Given the description of an element on the screen output the (x, y) to click on. 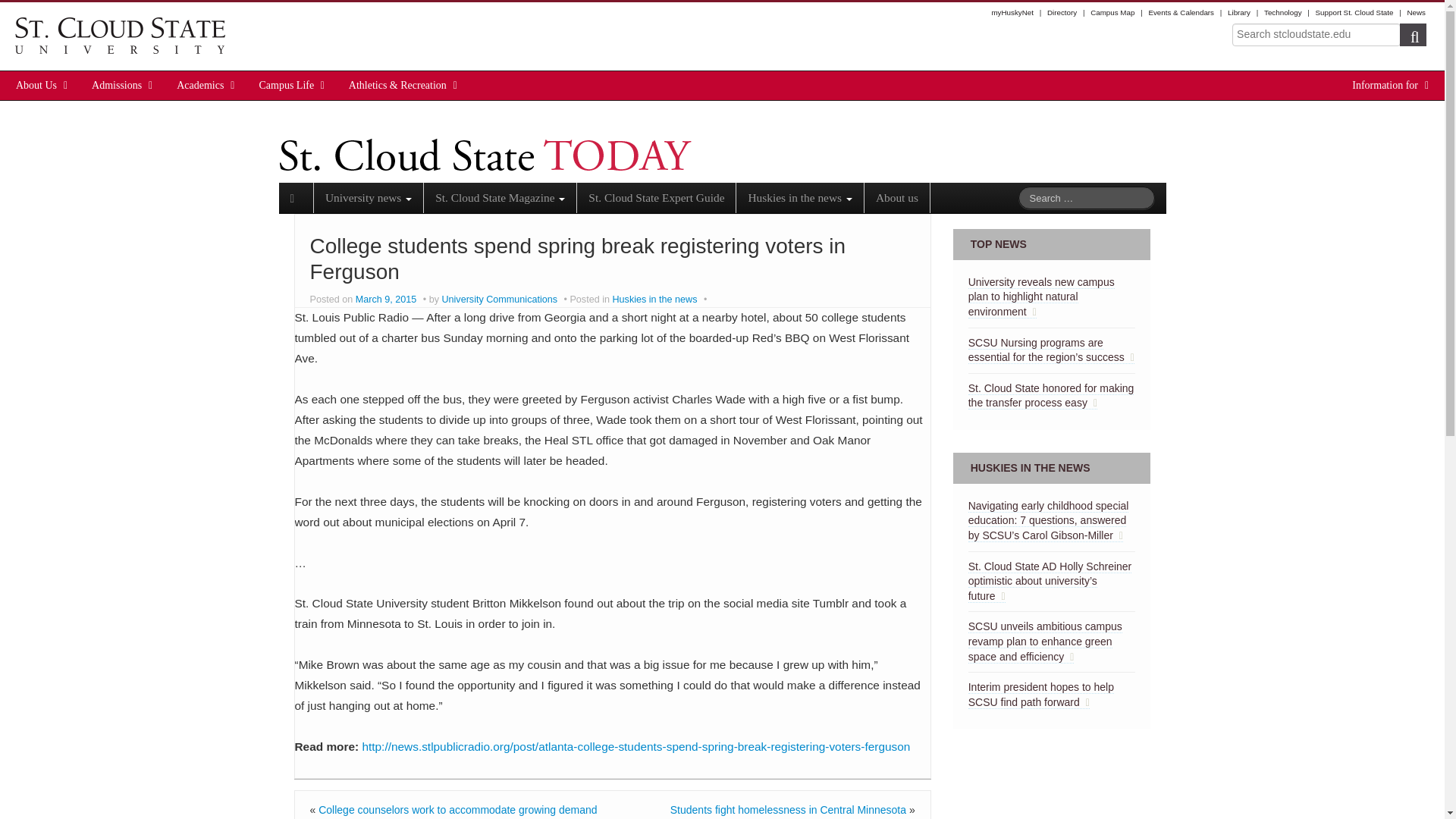
9:45 am (387, 299)
View all posts by University Communications (499, 299)
Search stcloudstate.edu (1315, 34)
Search stcloudstate.edu (1315, 34)
About Us (36, 85)
Academics (199, 85)
Campus Life (286, 85)
Admissions (116, 85)
